Given the description of an element on the screen output the (x, y) to click on. 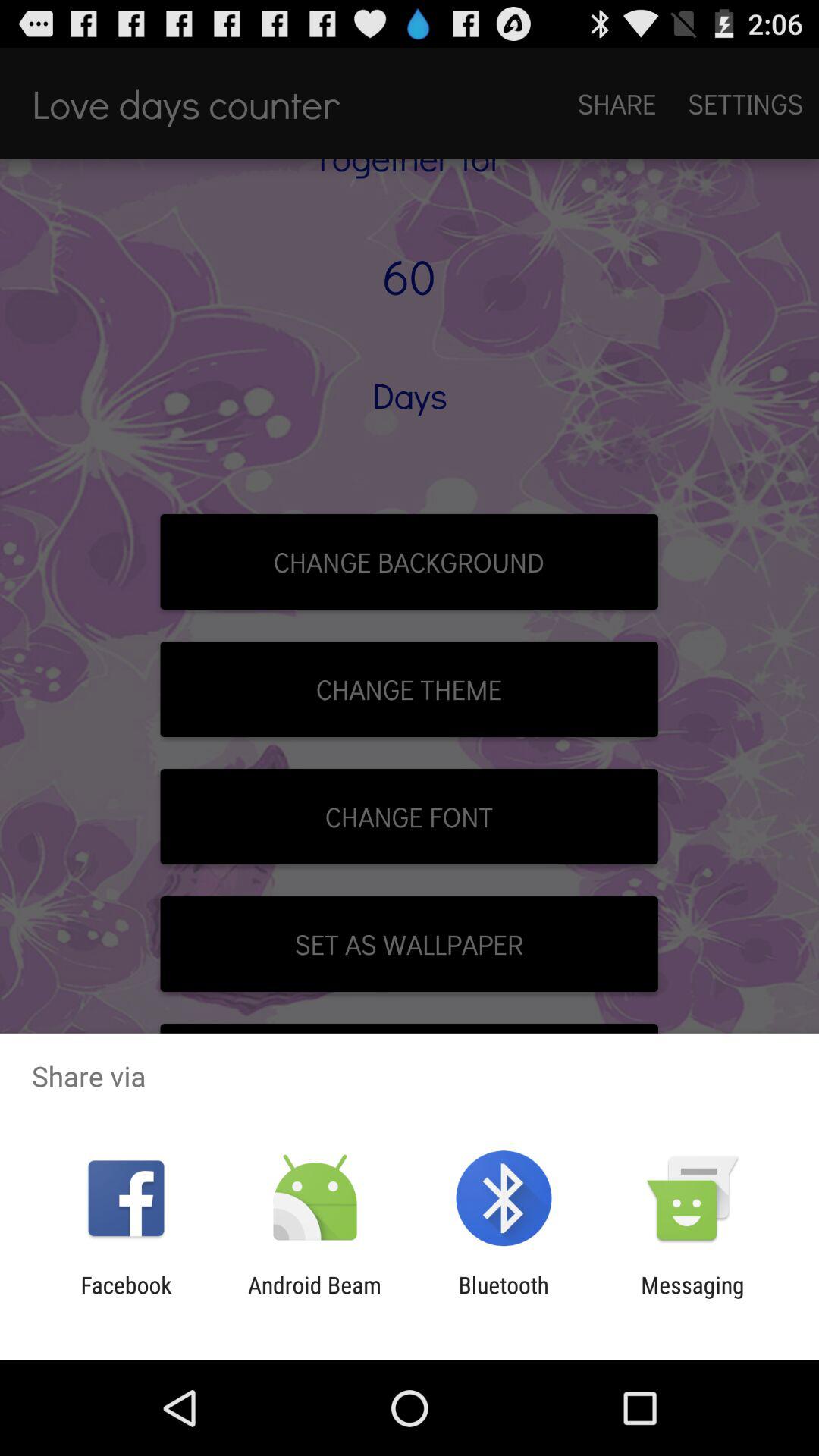
jump to the bluetooth item (503, 1298)
